Given the description of an element on the screen output the (x, y) to click on. 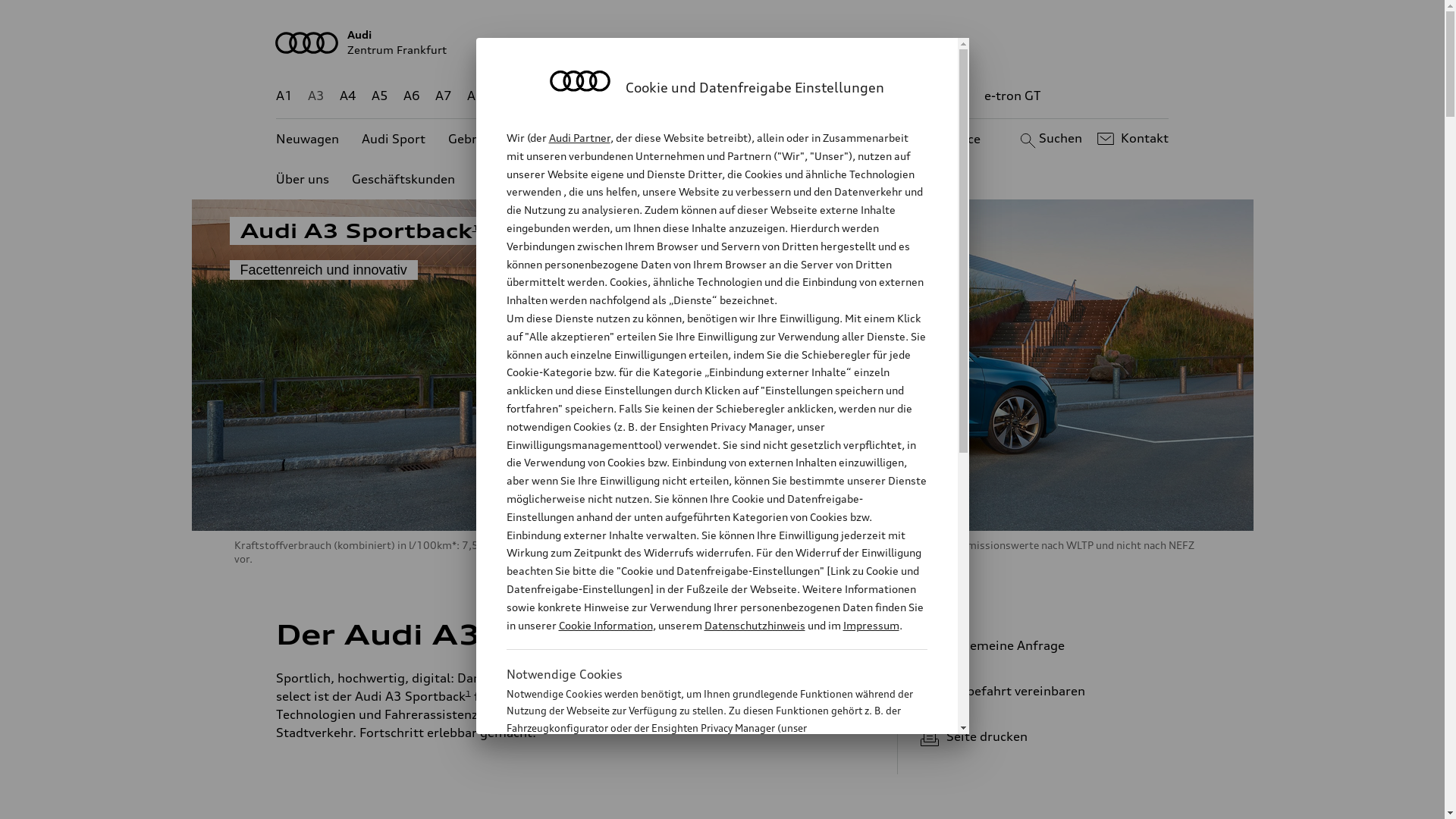
Angebote Element type: text (722, 139)
Cookie Information Element type: text (605, 624)
A1 Element type: text (284, 95)
Q5 Element type: text (645, 95)
Q3 Element type: text (540, 95)
Allgemeine Anfrage Element type: text (1038, 645)
A7 Element type: text (443, 95)
Kontakt Element type: text (1130, 138)
A5 Element type: text (379, 95)
Gebrauchtwagen Element type: text (498, 139)
Kundenservice Element type: text (937, 139)
1 Element type: text (467, 691)
A4 Element type: text (347, 95)
Audi Sport Element type: text (393, 139)
A6 Element type: text (411, 95)
RS Element type: text (908, 95)
A3 Element type: text (315, 95)
1 Element type: text (474, 227)
Audi on demand Element type: text (822, 139)
A8 Element type: text (475, 95)
TT Element type: text (814, 95)
Q4 e-tron Element type: text (592, 95)
Datenschutzhinweis Element type: text (753, 624)
Seite drucken Element type: text (1044, 736)
Audi Partner Element type: text (579, 137)
Suchen Element type: text (1049, 138)
Q7 Element type: text (678, 95)
Audi
Zentrum Frankfurt Element type: text (722, 42)
Probefahrt vereinbaren Element type: text (1038, 690)
Q8 Element type: text (710, 95)
Q2 Element type: text (507, 95)
Q8 e-tron Element type: text (763, 95)
Neuwagen Element type: text (307, 139)
g-tron Element type: text (950, 95)
1 Element type: text (666, 631)
R8 Element type: text (861, 95)
Impressum Element type: text (871, 624)
Cookie Information Element type: text (700, 802)
e-tron GT Element type: text (1012, 95)
